Given the description of an element on the screen output the (x, y) to click on. 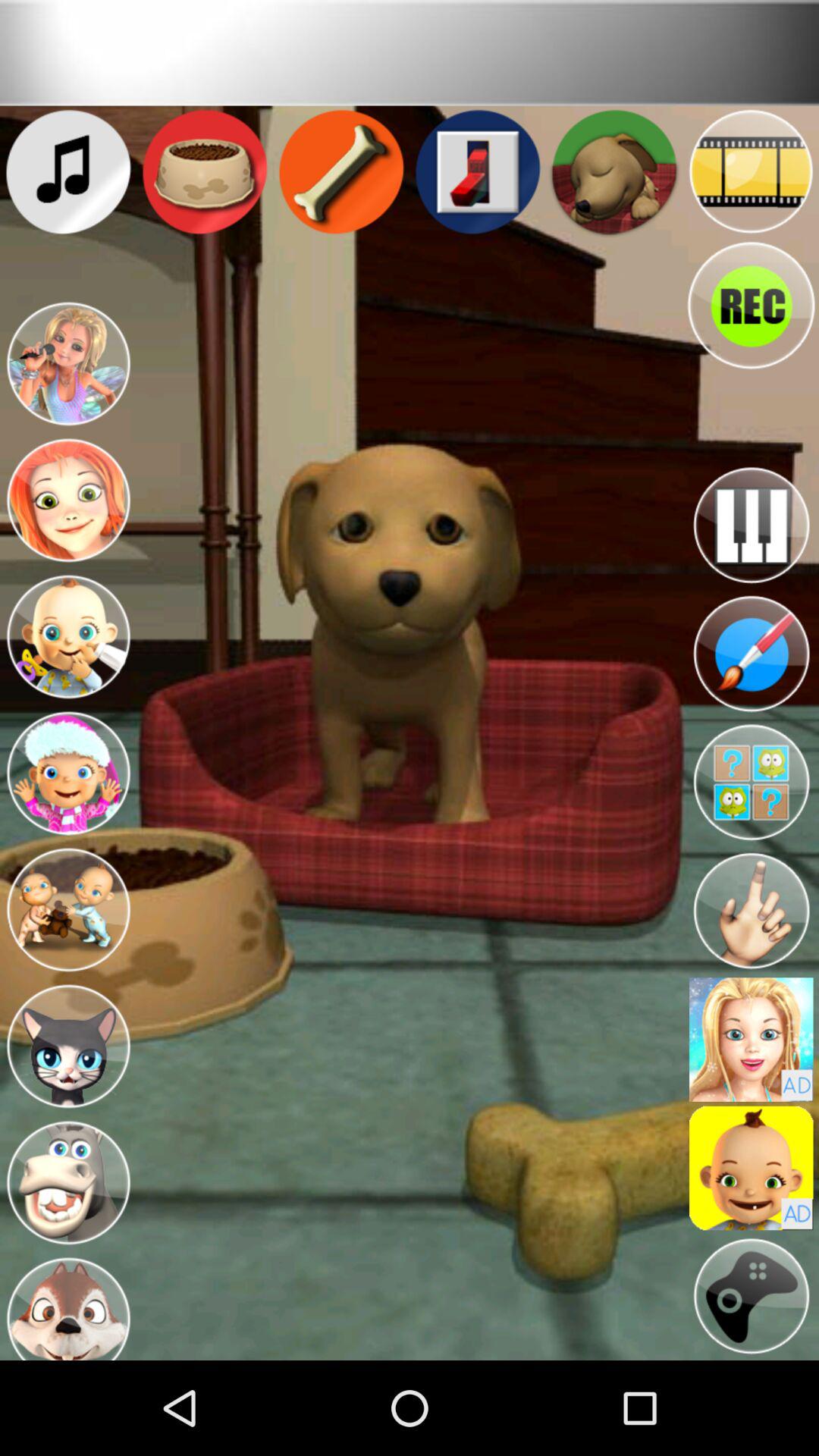
smile at the dog (68, 500)
